Given the description of an element on the screen output the (x, y) to click on. 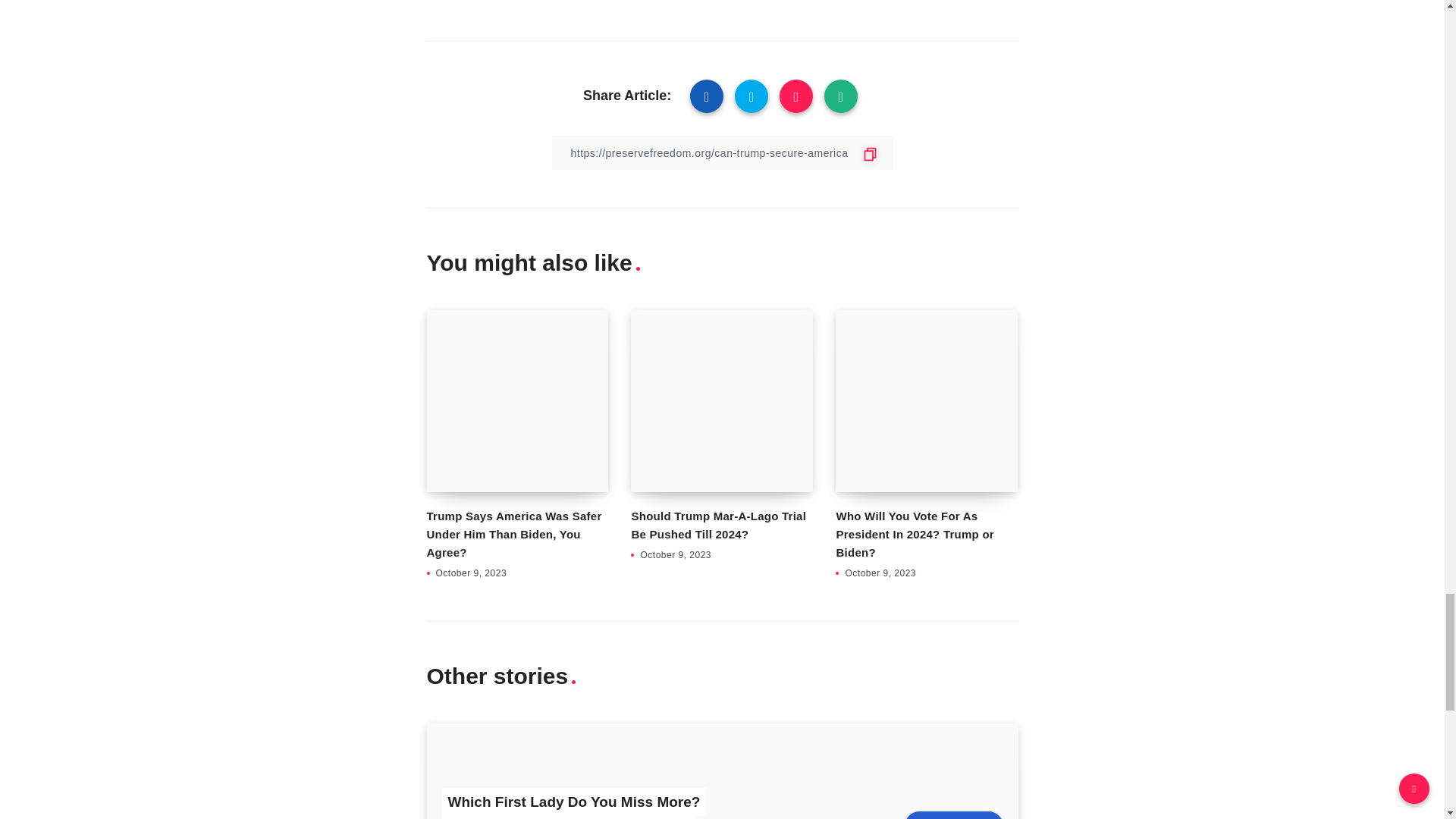
Who Will You Vote For As President In 2024? Trump or Biden? (913, 533)
Should Trump Mar-A-Lago Trial Be Pushed Till 2024? (718, 524)
